Given the description of an element on the screen output the (x, y) to click on. 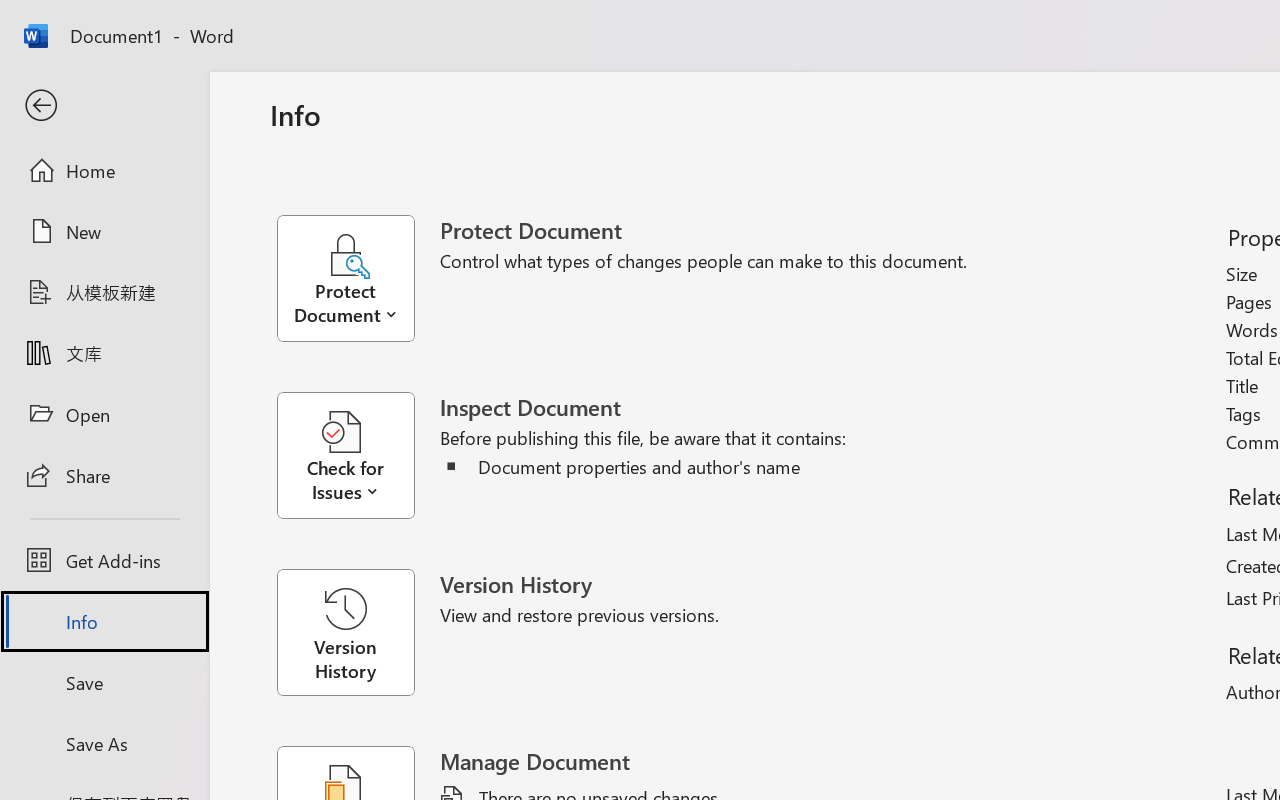
Save As (104, 743)
